Given the description of an element on the screen output the (x, y) to click on. 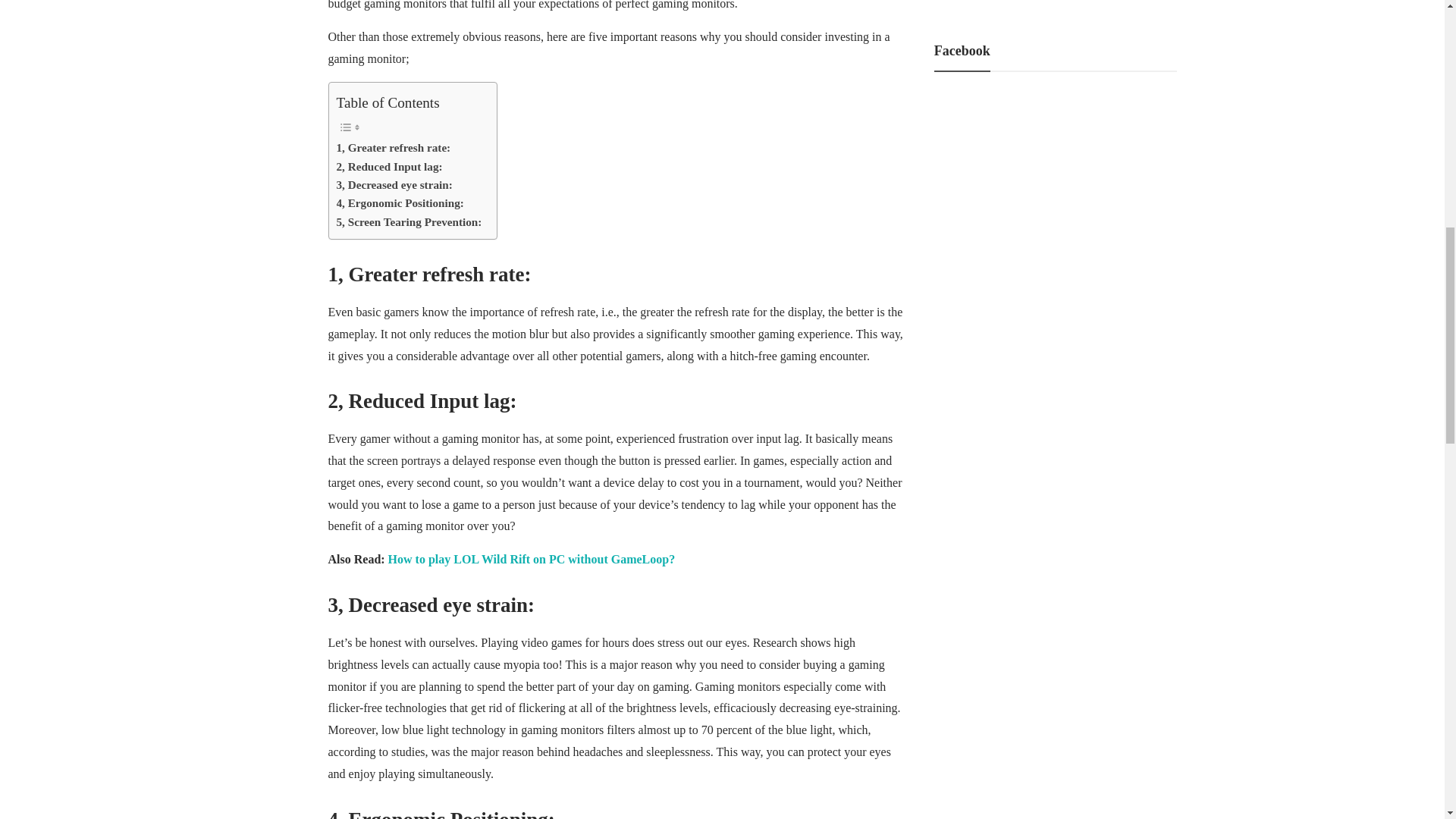
5, Screen Tearing Prevention: (408, 221)
4, Ergonomic Positioning: (400, 203)
2, Reduced Input lag: (389, 167)
3, Decreased eye strain: (394, 185)
1, Greater refresh rate: (393, 147)
